Given the description of an element on the screen output the (x, y) to click on. 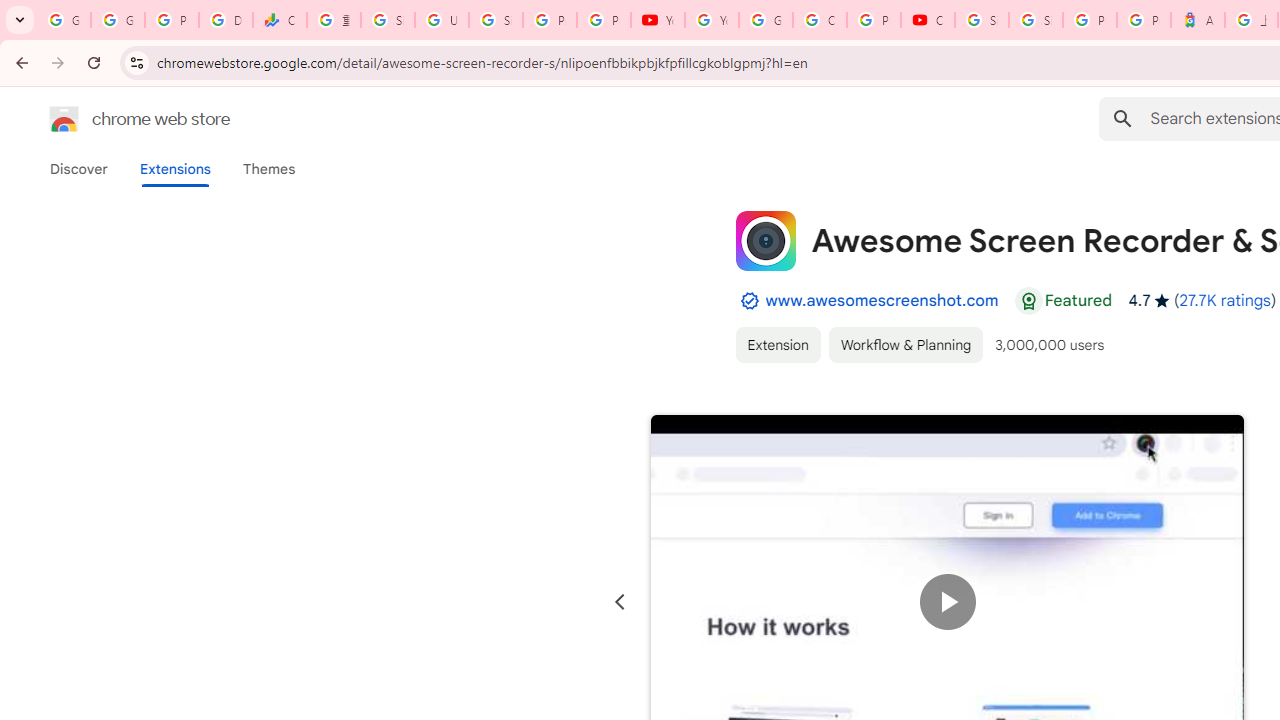
Featured Badge (1028, 301)
YouTube (711, 20)
Privacy Checkup (604, 20)
Chrome Web Store logo (63, 118)
Content Creator Programs & Opportunities - YouTube Creators (927, 20)
Extensions (174, 169)
www.awesomescreenshot.com (881, 300)
Currencies - Google Finance (280, 20)
Item media 1 video (947, 601)
Chrome Web Store logo chrome web store (118, 118)
